Given the description of an element on the screen output the (x, y) to click on. 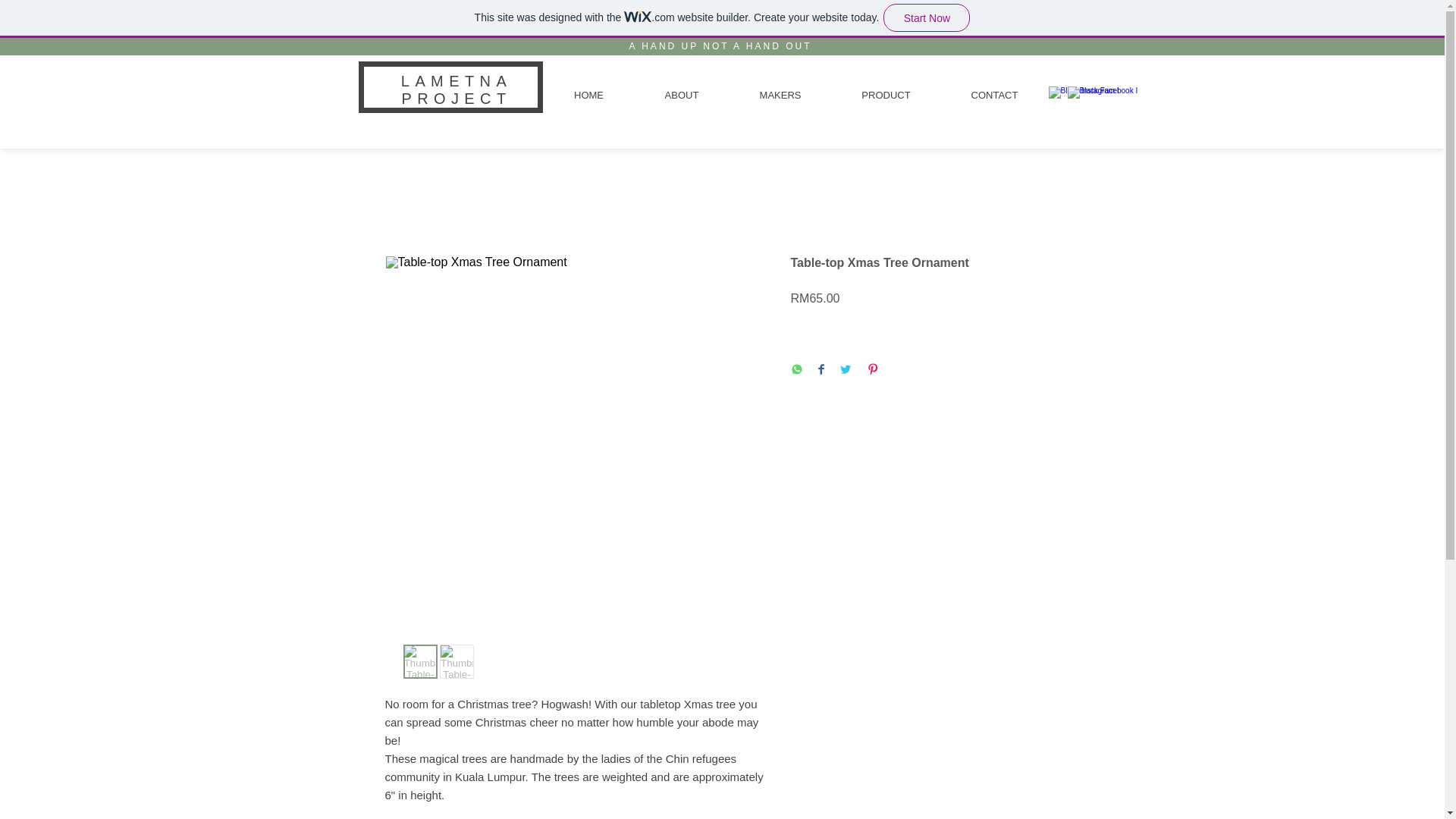
ABOUT (681, 95)
CONTACT (994, 95)
PRODUCT (885, 95)
HOME (588, 95)
MAKERS (780, 95)
LAMETNA PROJECT (456, 89)
